Given the description of an element on the screen output the (x, y) to click on. 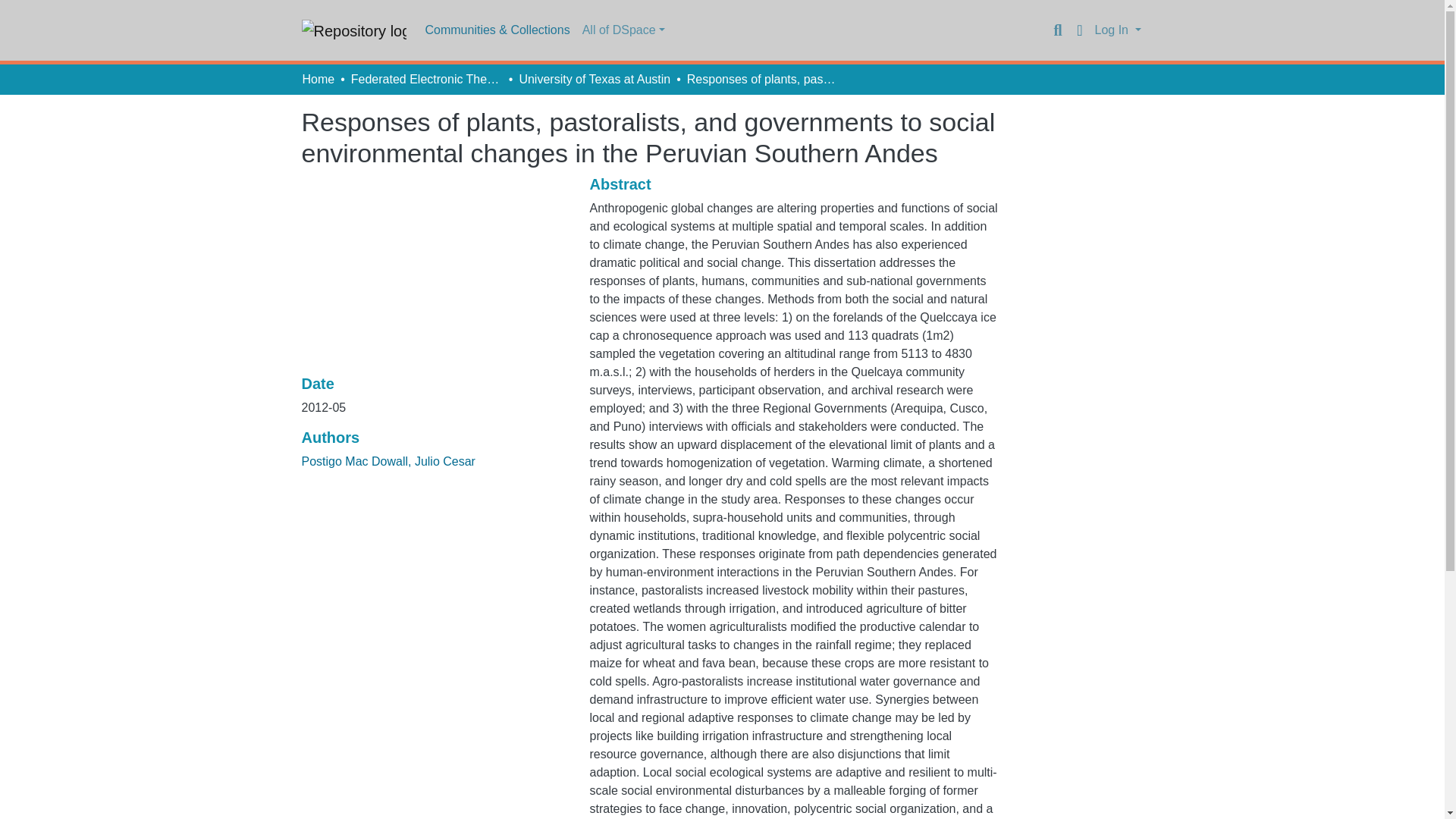
Language switch (1079, 30)
University of Texas at Austin (593, 79)
Log In (1117, 30)
Search (1057, 30)
Postigo Mac Dowall, Julio Cesar (388, 461)
Federated Electronic Theses and Dissertations (426, 79)
All of DSpace (623, 30)
Home (317, 79)
